Given the description of an element on the screen output the (x, y) to click on. 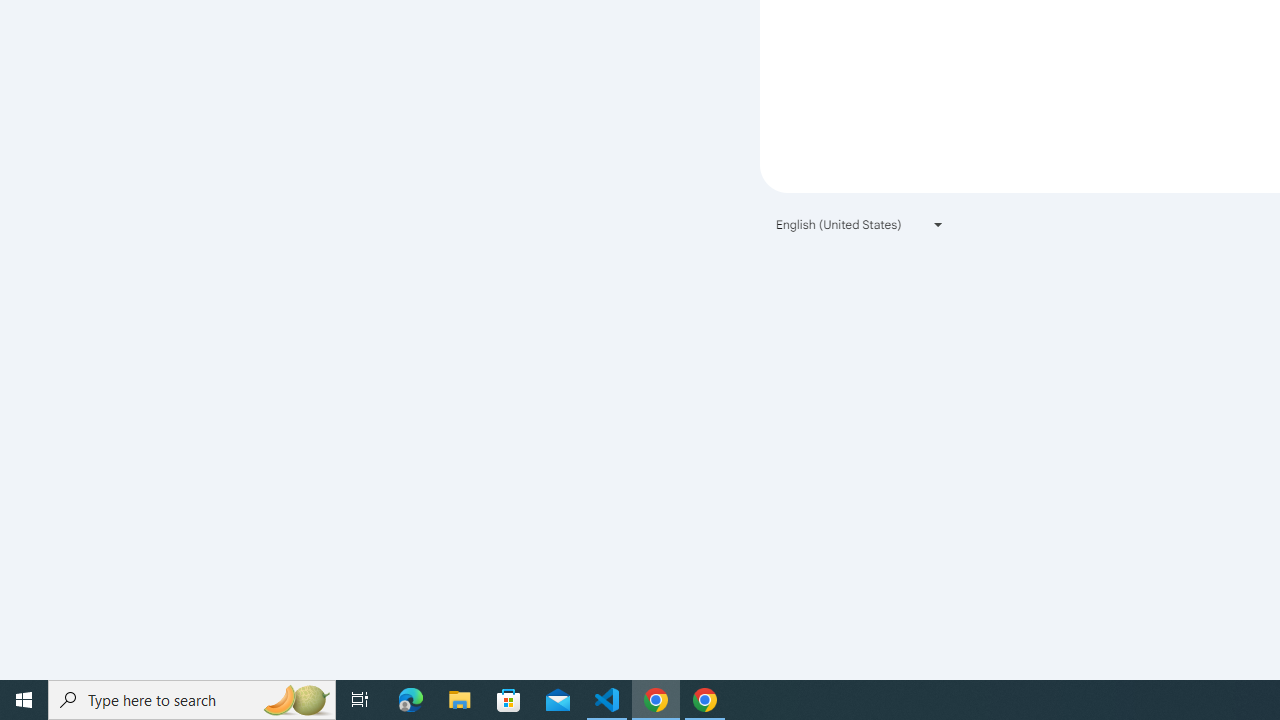
English (United States) (860, 224)
